Given the description of an element on the screen output the (x, y) to click on. 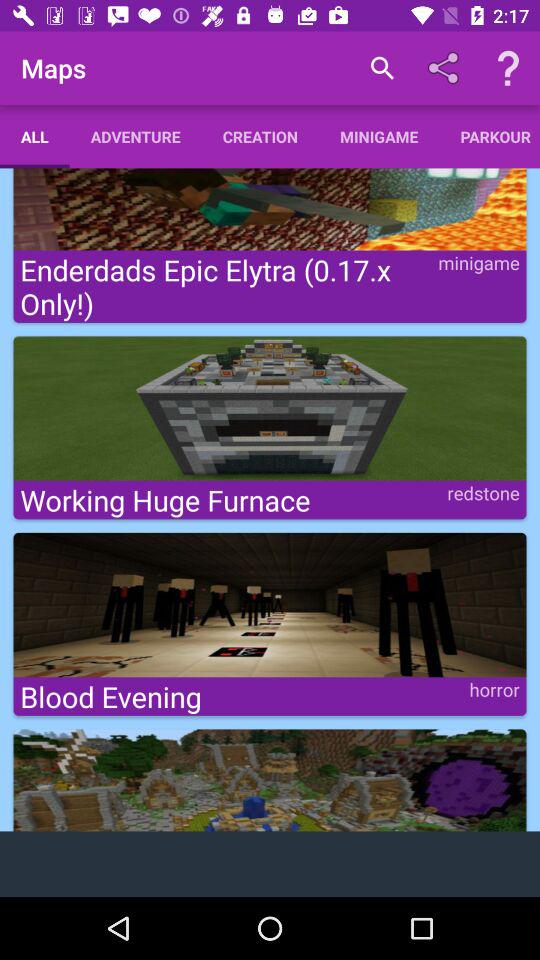
jump until parkour item (489, 136)
